Given the description of an element on the screen output the (x, y) to click on. 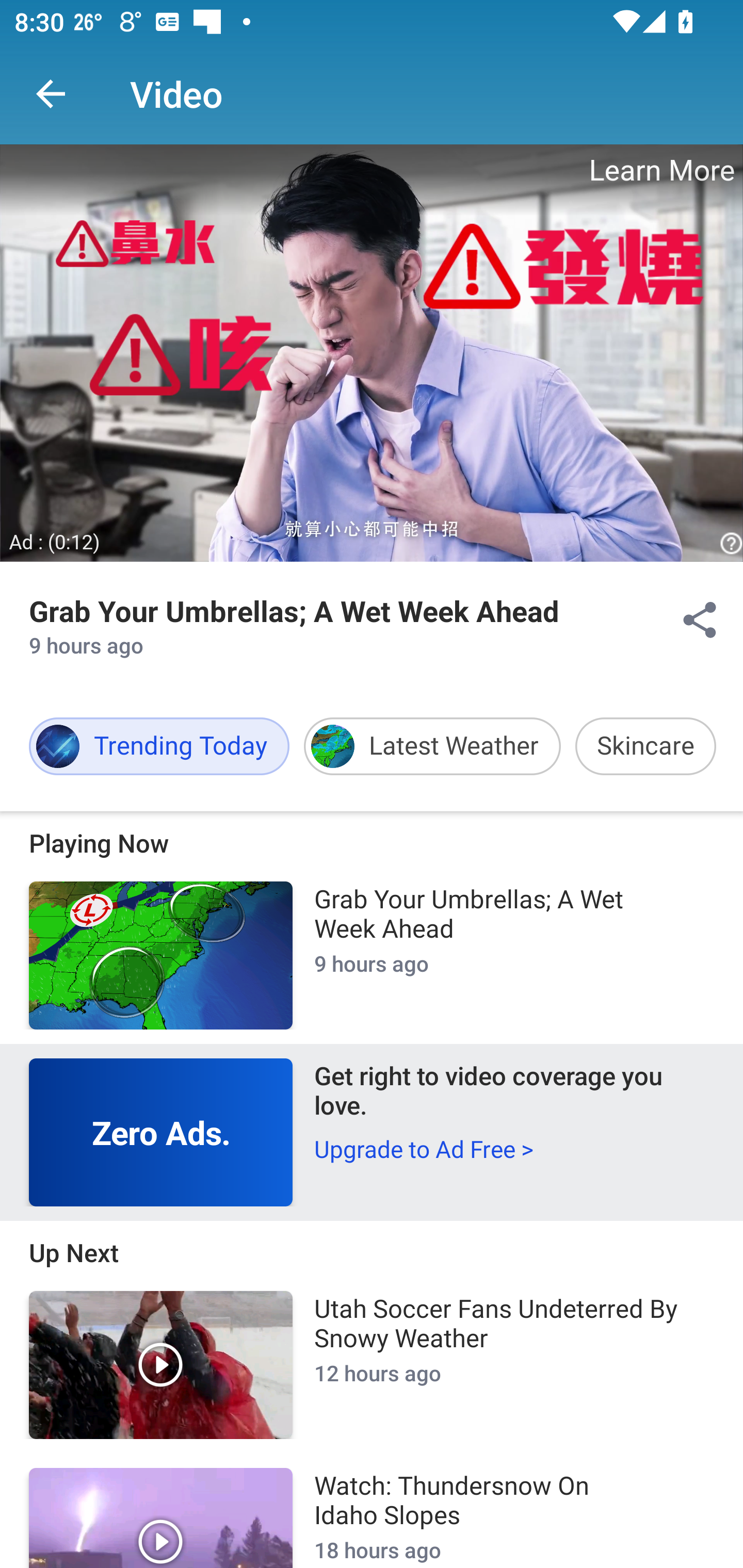
Navigate up (50, 93)
Learn More (660, 170)
Ad : (0:13) (54, 542)
help_outline_white_24dp_with_3px_trbl_padding (728, 543)
Trending Today (158, 746)
Latest Weather (431, 746)
Skincare (645, 746)
Play (160, 1364)
Play (160, 1517)
